Given the description of an element on the screen output the (x, y) to click on. 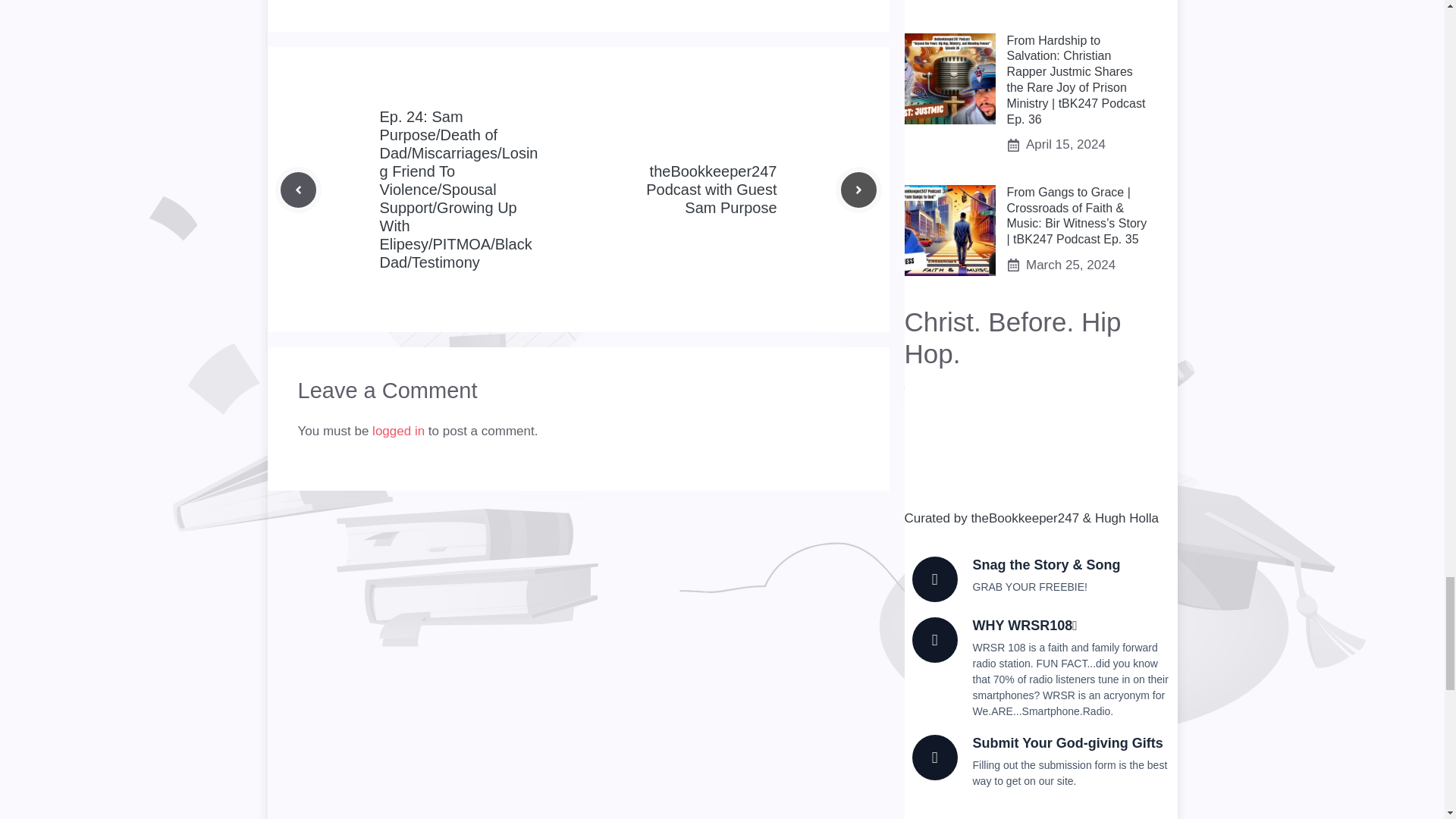
Spotify Embed: Christ. Before. Hip Hop (1040, 443)
